Given the description of an element on the screen output the (x, y) to click on. 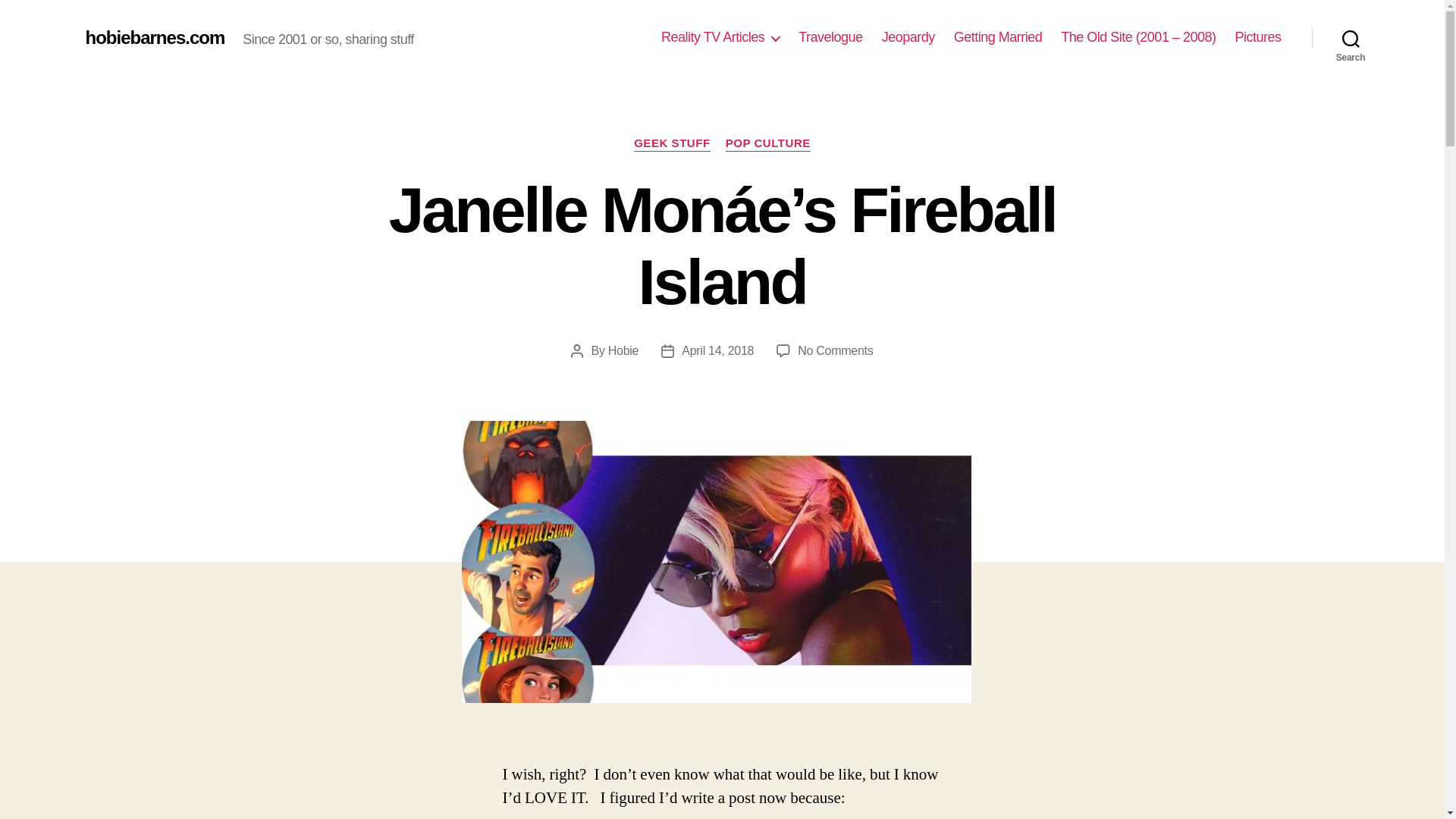
GEEK STUFF (671, 143)
Pictures (1257, 37)
April 14, 2018 (717, 350)
Jeopardy (908, 37)
Getting Married (997, 37)
hobiebarnes.com (154, 37)
Reality TV Articles (719, 37)
POP CULTURE (767, 143)
Hobie (623, 350)
Search (1350, 37)
Travelogue (829, 37)
